Given the description of an element on the screen output the (x, y) to click on. 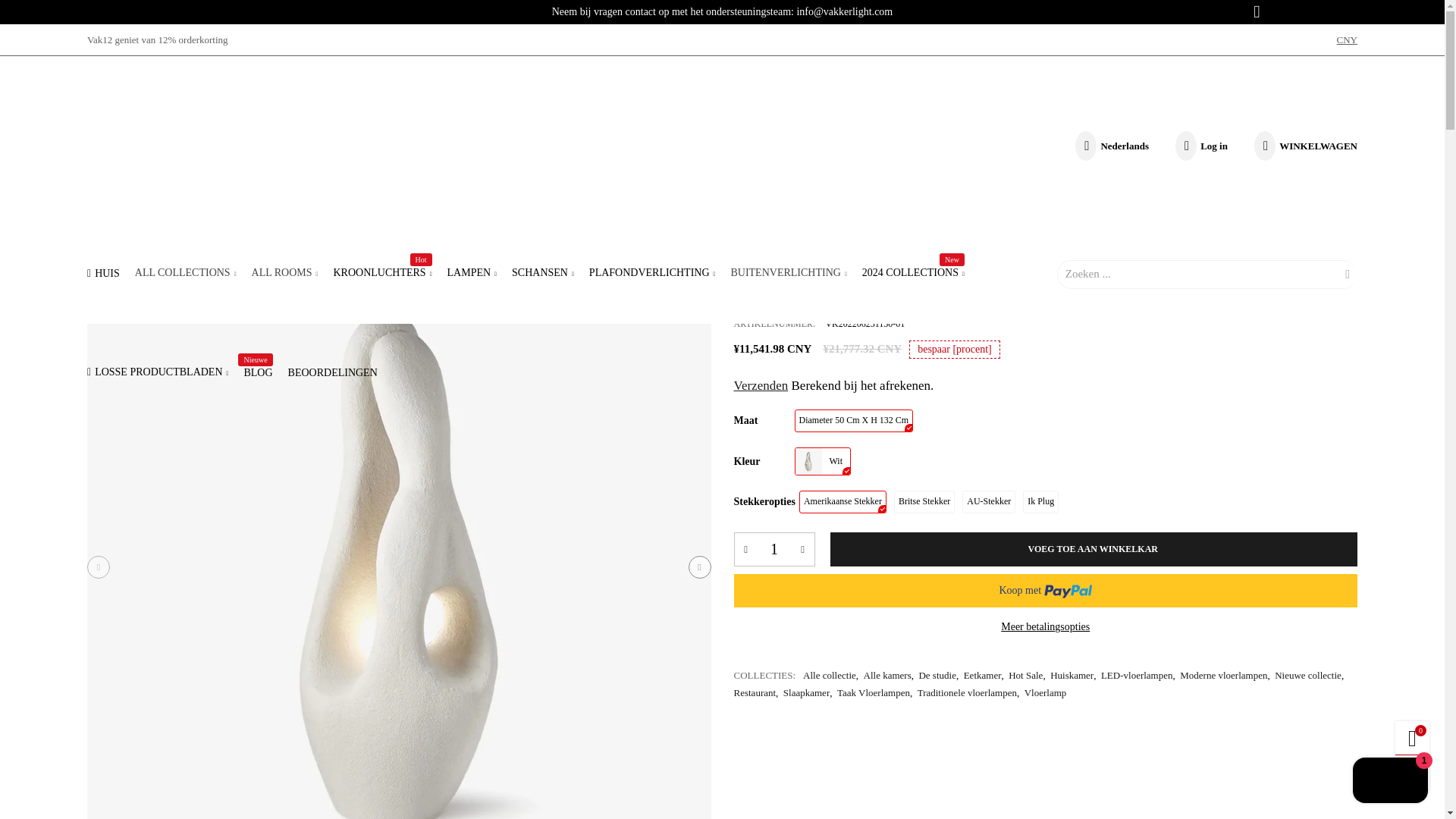
Winkelwagen (1303, 145)
All Collections (185, 273)
Vakkerlight (705, 150)
Log in (1220, 317)
HUIS (103, 273)
Log in (1199, 145)
CNY (1347, 40)
Munteenheid (1347, 40)
Nederlands (1109, 145)
close promotion (1256, 12)
Mijn rekening (1199, 145)
WINKELWAGEN (1303, 145)
ALL ROOMS (284, 273)
huis (103, 273)
1 (773, 549)
